Given the description of an element on the screen output the (x, y) to click on. 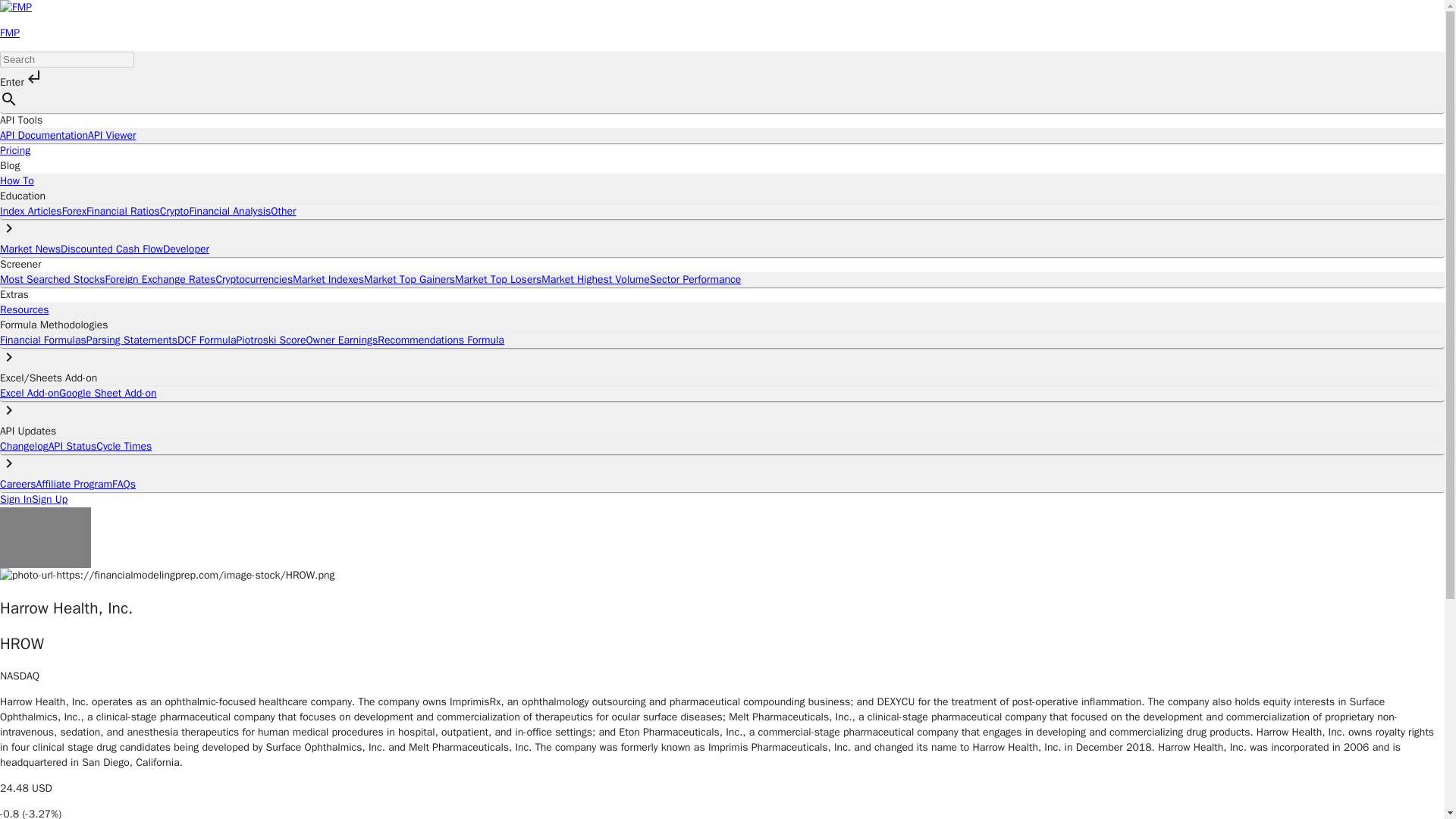
Pricing (15, 150)
API Viewer (111, 134)
Other (282, 210)
Market Indexes (328, 278)
DCF Formula (206, 339)
API Documentation (43, 134)
Discounted Cash Flow (112, 248)
API Status (72, 445)
Excel Add-on (29, 392)
Resources (24, 309)
Changelog (24, 445)
Cycle Times (123, 445)
Parsing Statements (131, 339)
Careers (18, 483)
Financial Ratios (122, 210)
